Given the description of an element on the screen output the (x, y) to click on. 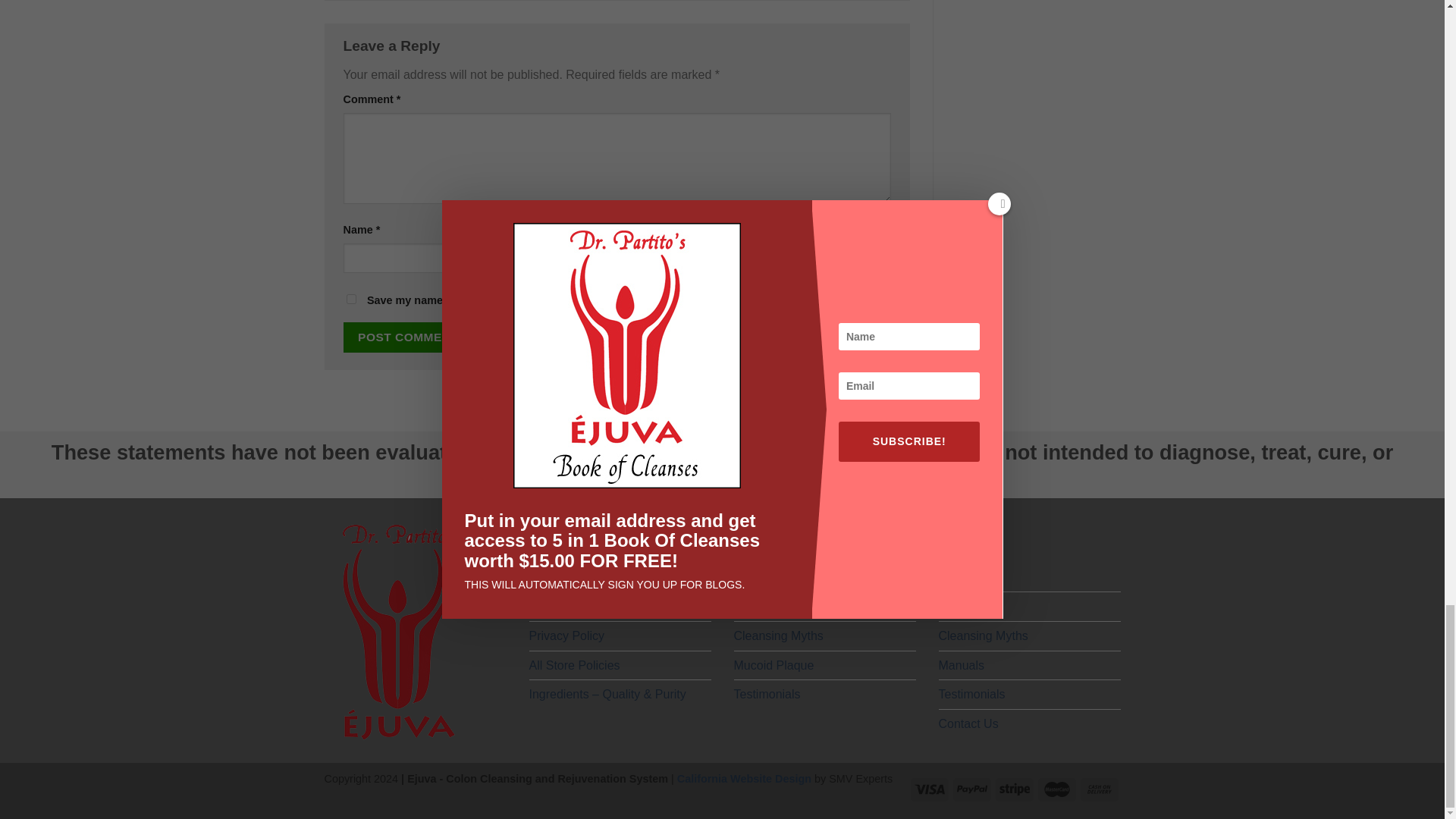
yes (350, 298)
Post Comment (407, 337)
Post Comment (407, 337)
